Given the description of an element on the screen output the (x, y) to click on. 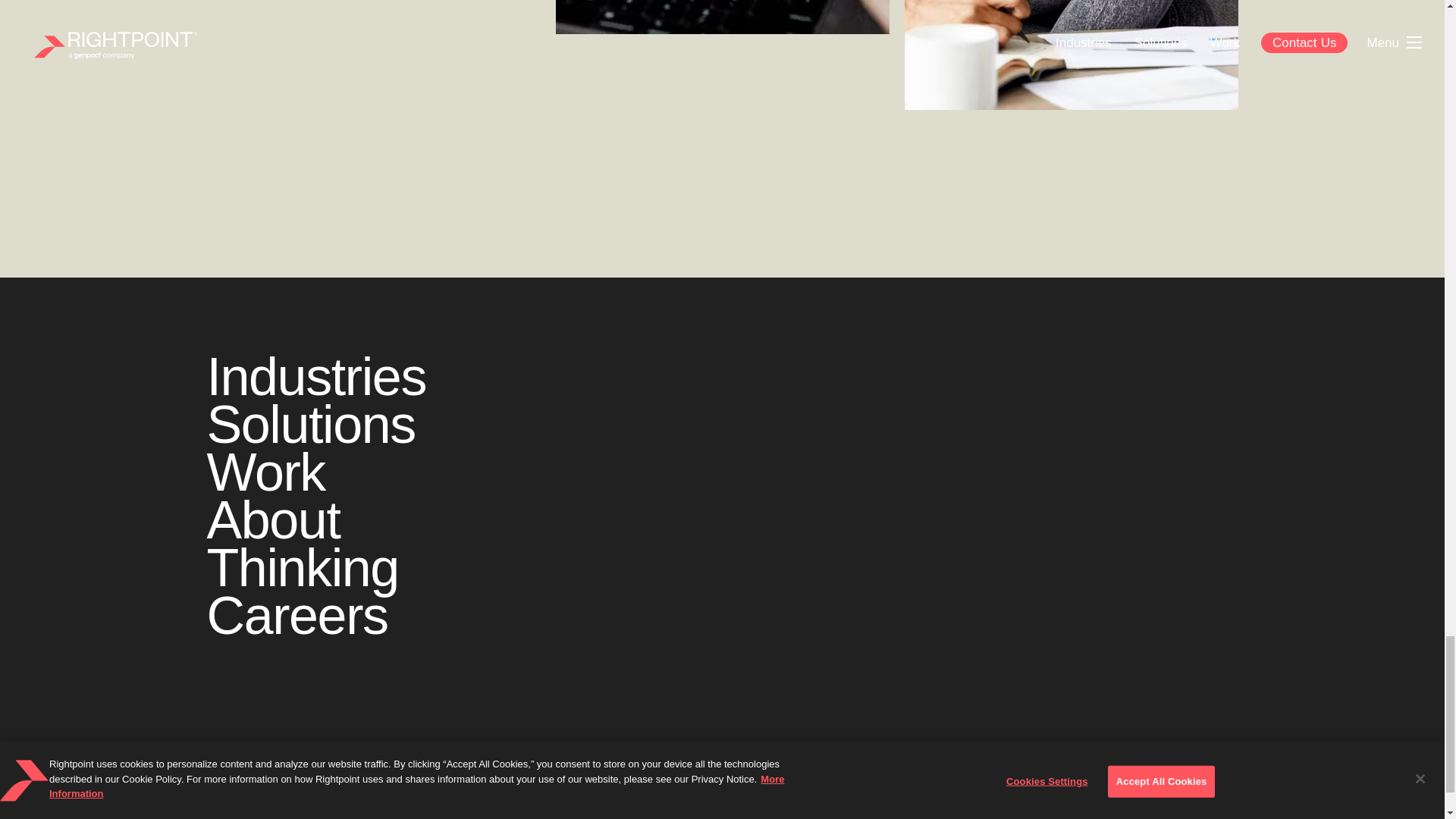
Work (265, 472)
Thinking (301, 567)
About (272, 519)
Careers (296, 615)
Solutions (310, 424)
Industries (315, 376)
